Given the description of an element on the screen output the (x, y) to click on. 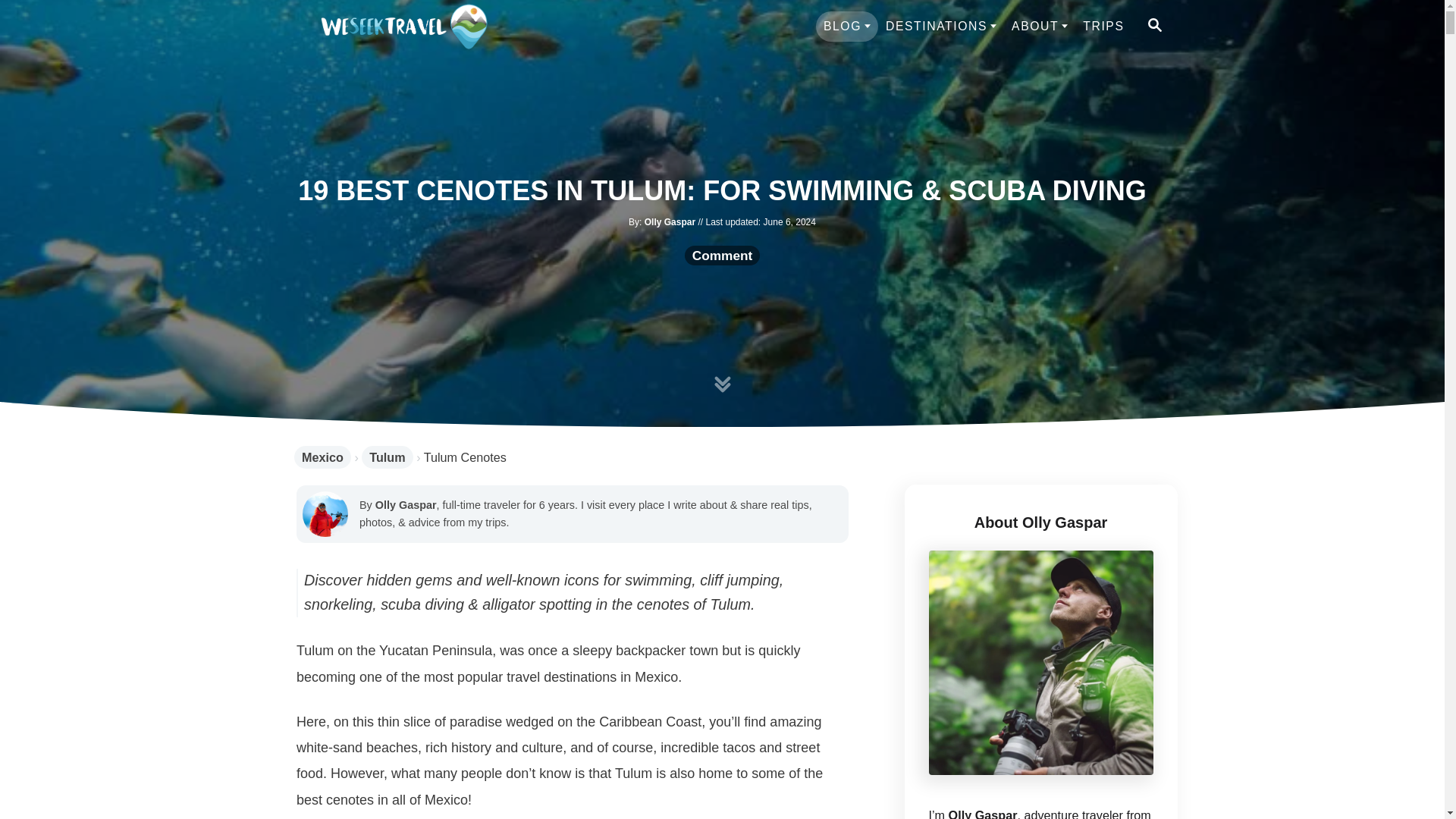
We Seek Travel (403, 26)
BLOG (846, 26)
SEARCH (1153, 26)
DESTINATIONS (940, 26)
